Given the description of an element on the screen output the (x, y) to click on. 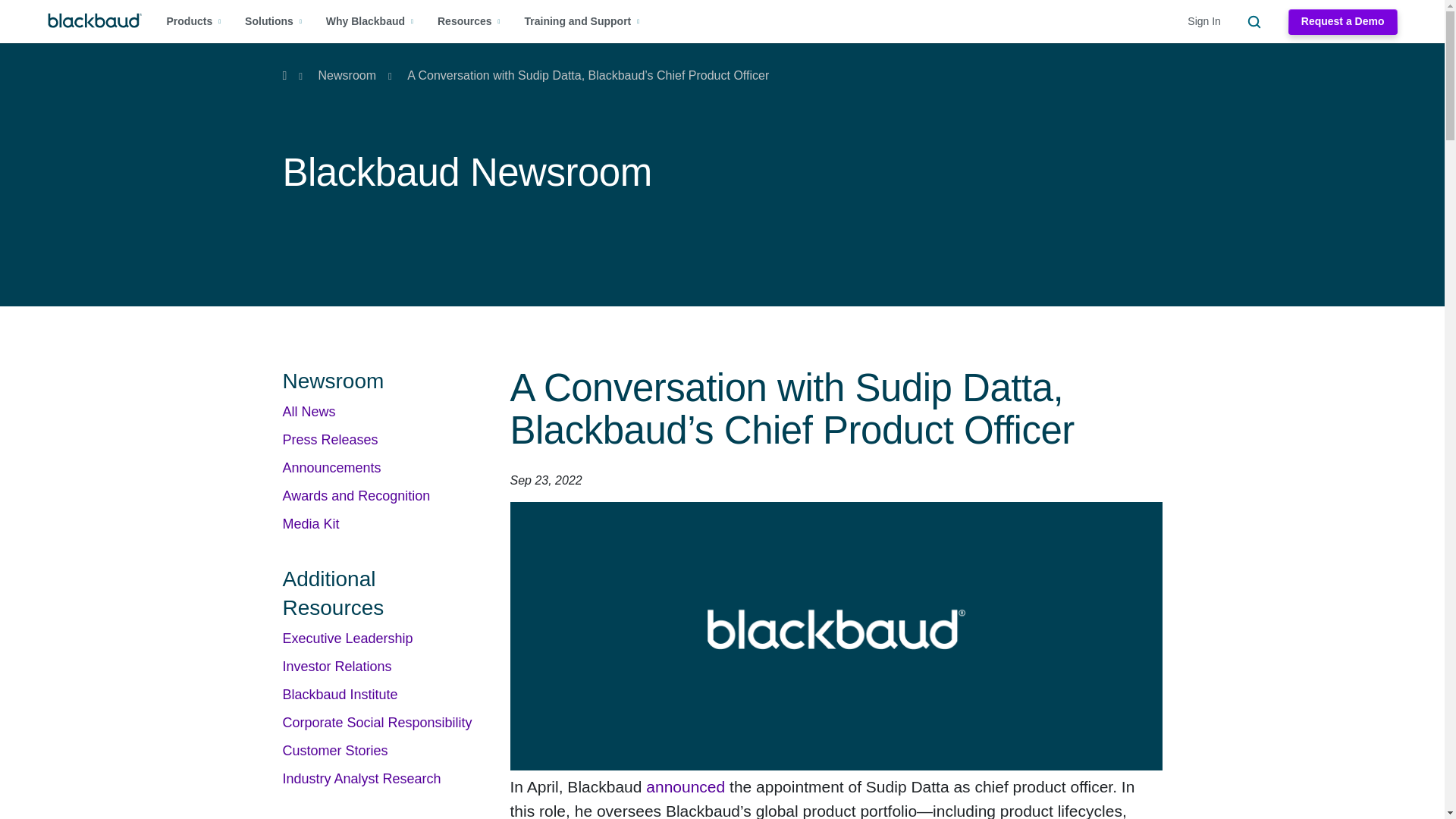
Solutions (272, 21)
Why Blackbaud (369, 21)
Products (194, 21)
